Given the description of an element on the screen output the (x, y) to click on. 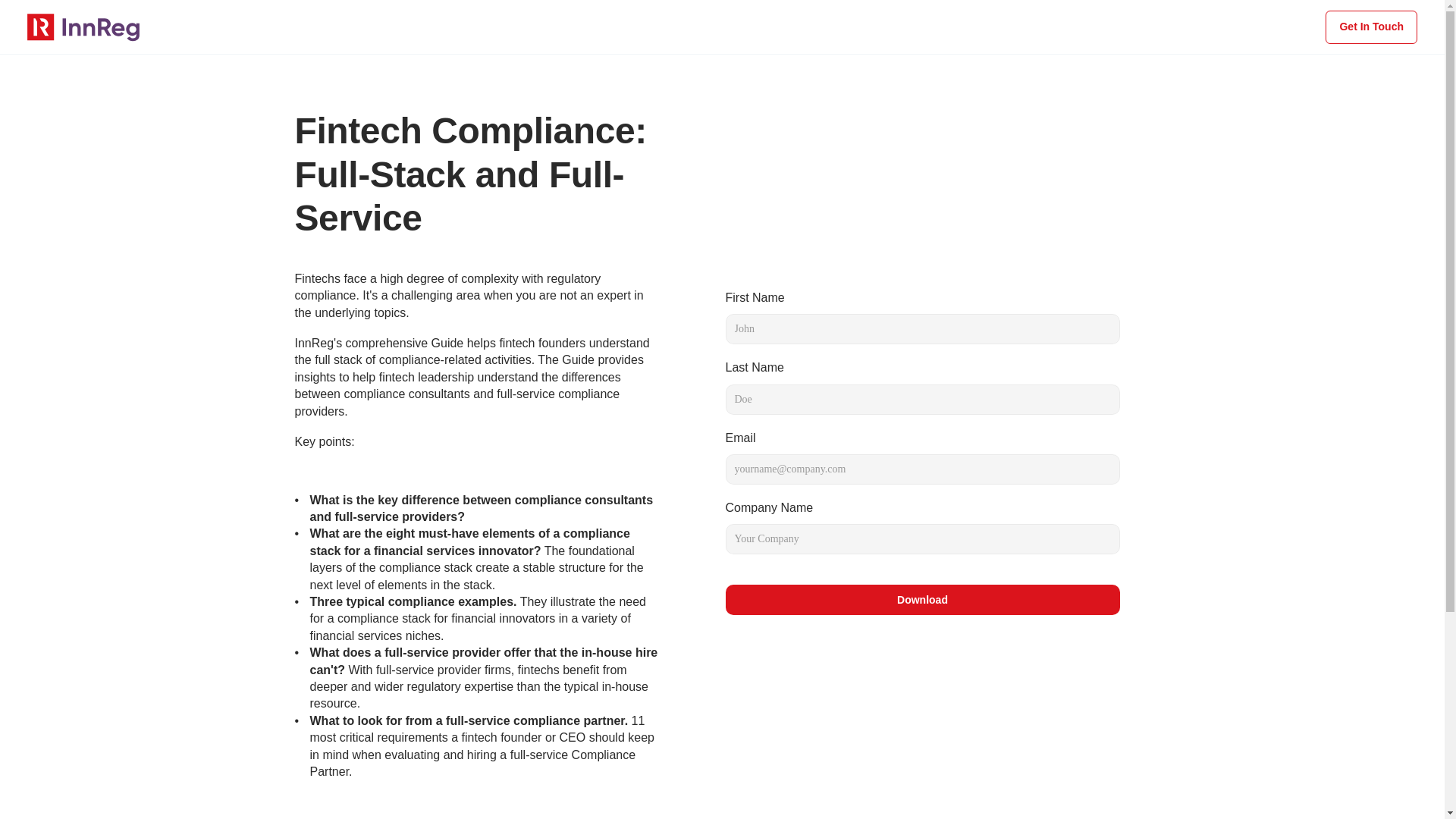
Download (922, 599)
Get In Touch (1370, 27)
